Given the description of an element on the screen output the (x, y) to click on. 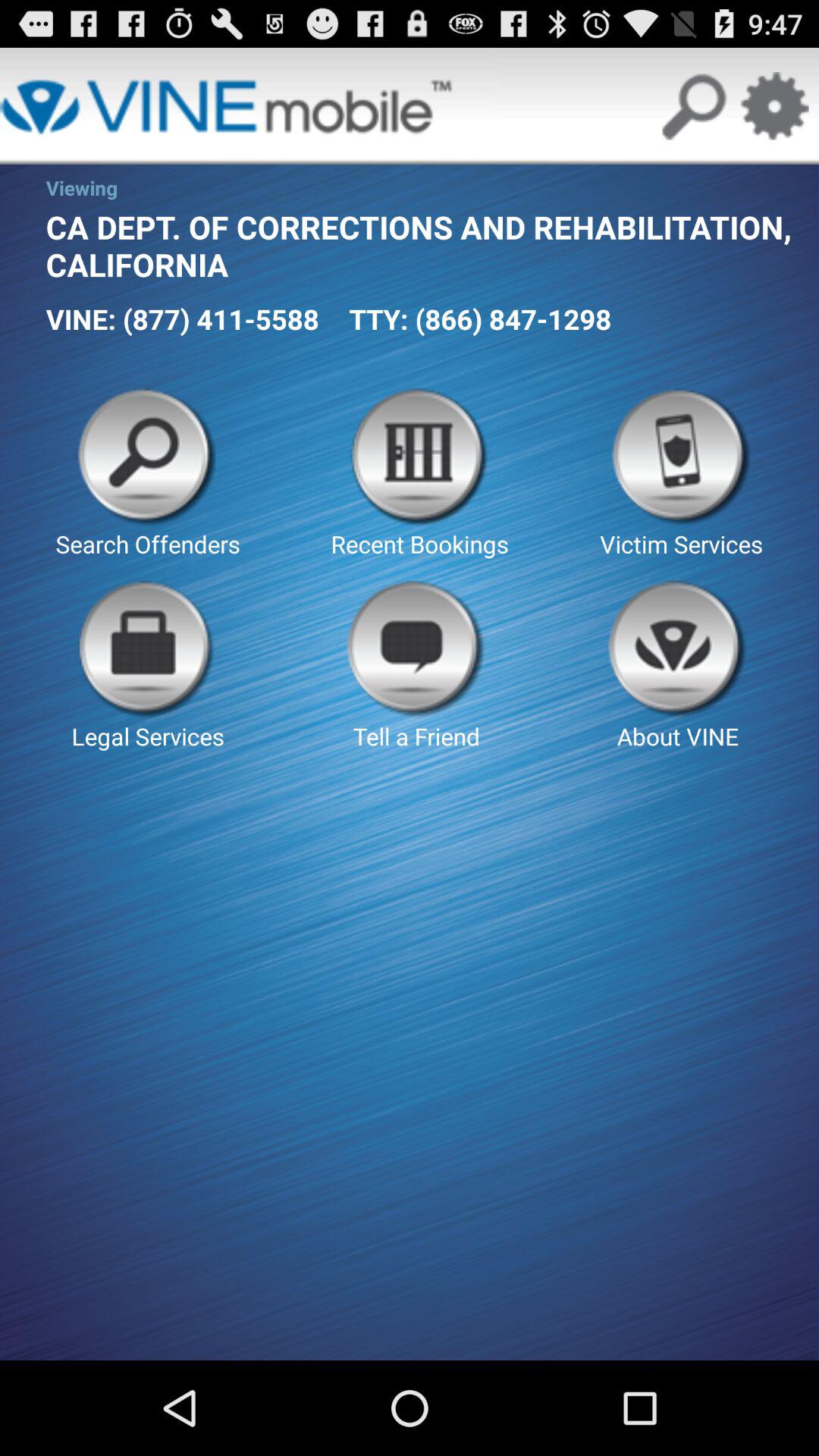
tap the icon to the left of the tty 866 847 icon (182, 318)
